Given the description of an element on the screen output the (x, y) to click on. 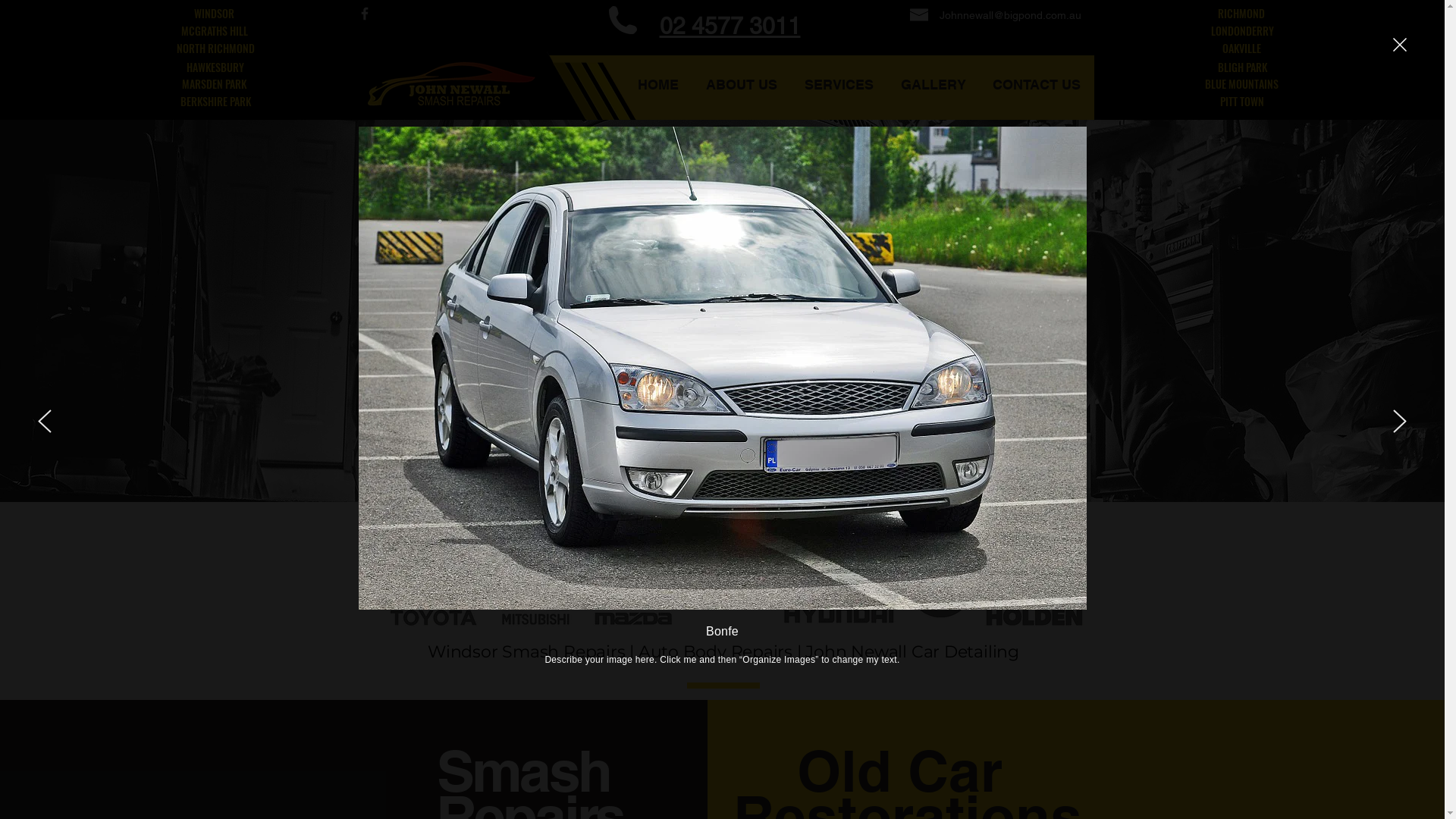
Old Car  Element type: text (906, 770)
CONTACT US Element type: text (1035, 83)
Johnnewall@bigpond.com.au Element type: text (1009, 15)
SERVICES Element type: text (838, 83)
ABOUT US Element type: text (740, 83)
02 4577 3011 Element type: text (729, 25)
HOME Element type: text (658, 83)
Smash  Element type: text (529, 770)
GALLERY Element type: text (933, 83)
